Given the description of an element on the screen output the (x, y) to click on. 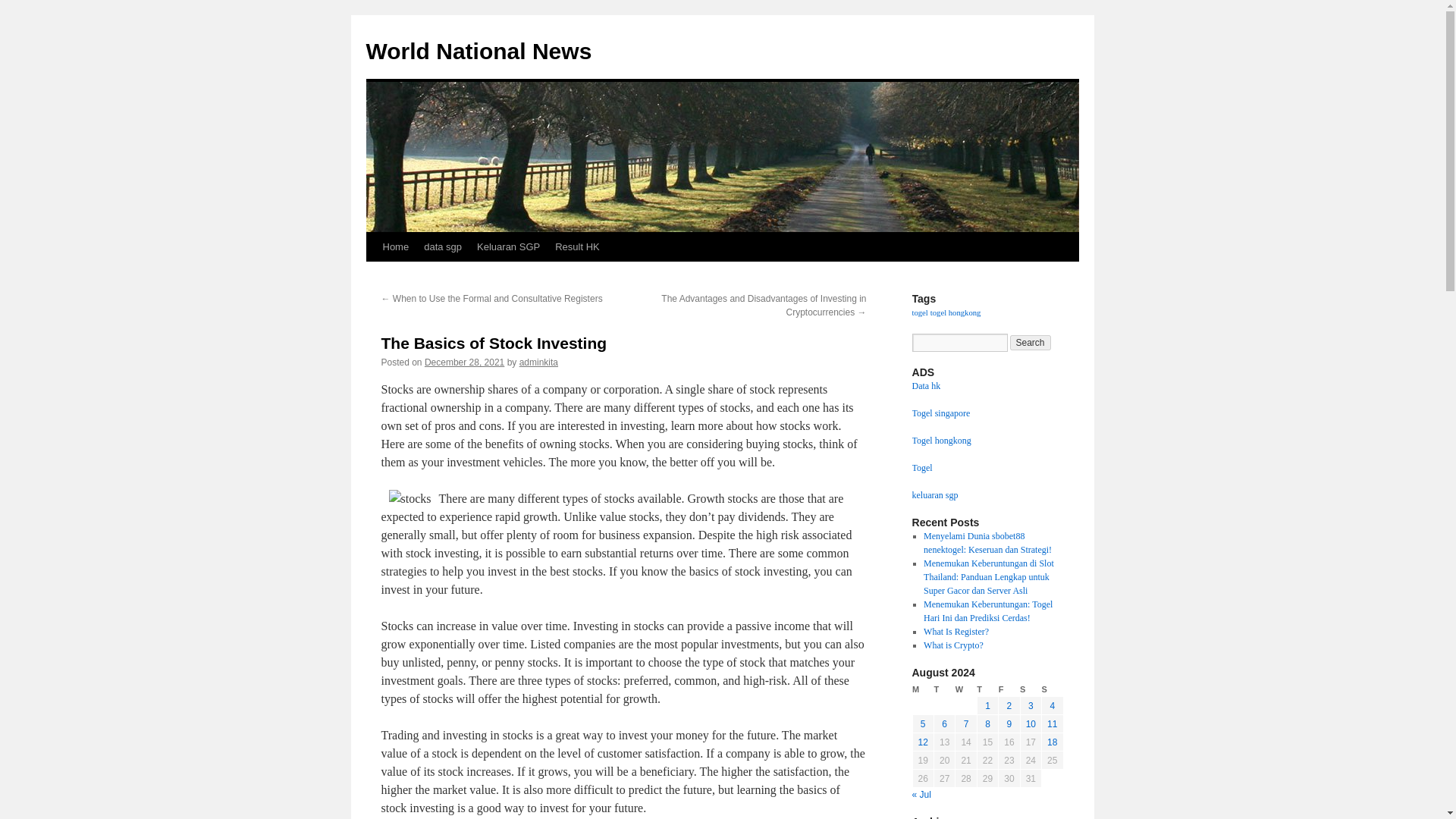
Thursday (986, 689)
Home (395, 246)
Keluaran SGP (507, 246)
Wednesday (965, 689)
11 (1051, 724)
10 (1030, 724)
adminkita (538, 362)
View all posts by adminkita (538, 362)
Togel hongkong (941, 439)
data sgp (442, 246)
